Given the description of an element on the screen output the (x, y) to click on. 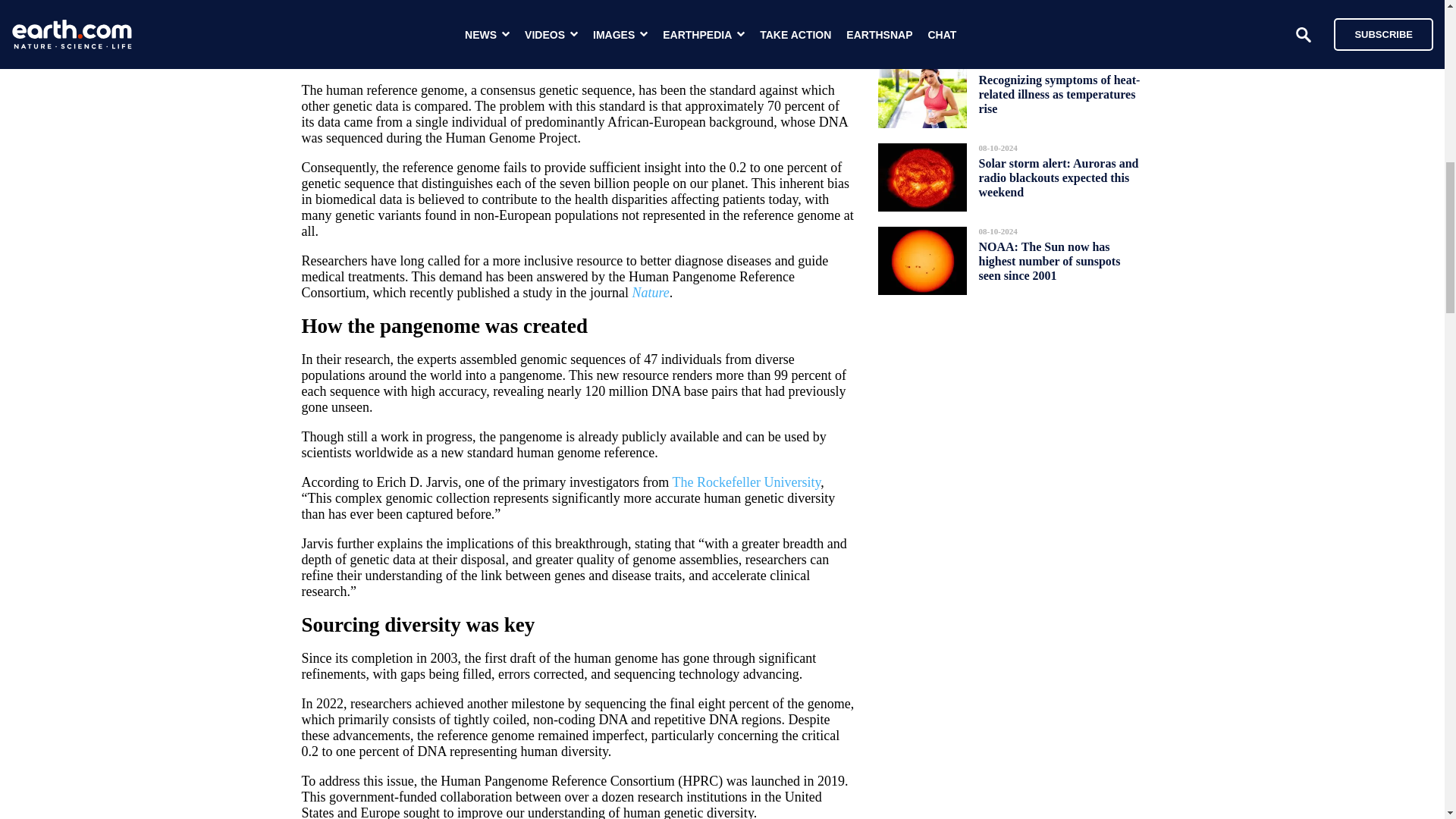
The Rockefeller University (746, 482)
Nature (649, 292)
Climate-driven wildfires worsen U.S. air quality and health (1048, 19)
